Given the description of an element on the screen output the (x, y) to click on. 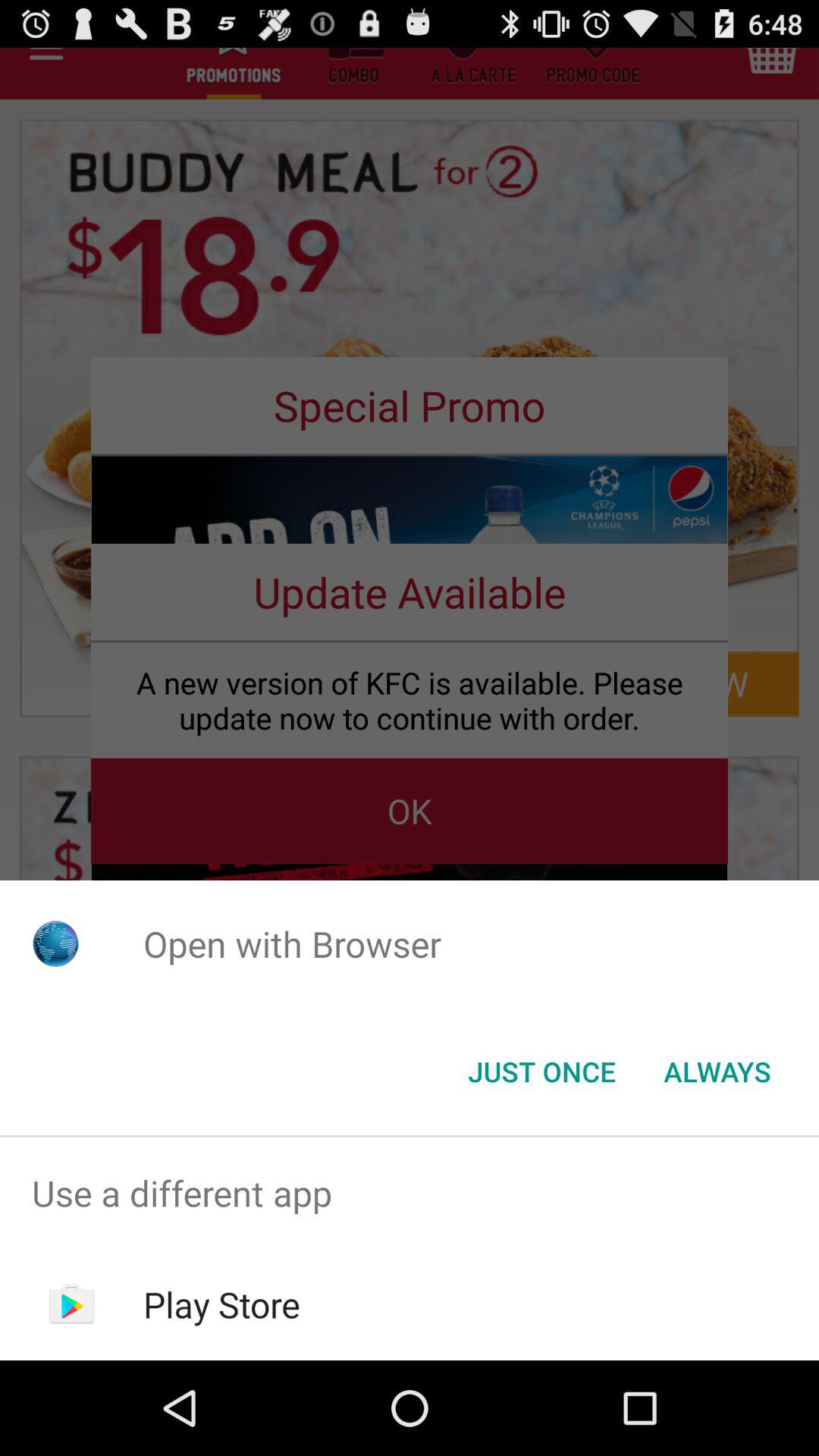
flip to just once item (541, 1071)
